Given the description of an element on the screen output the (x, y) to click on. 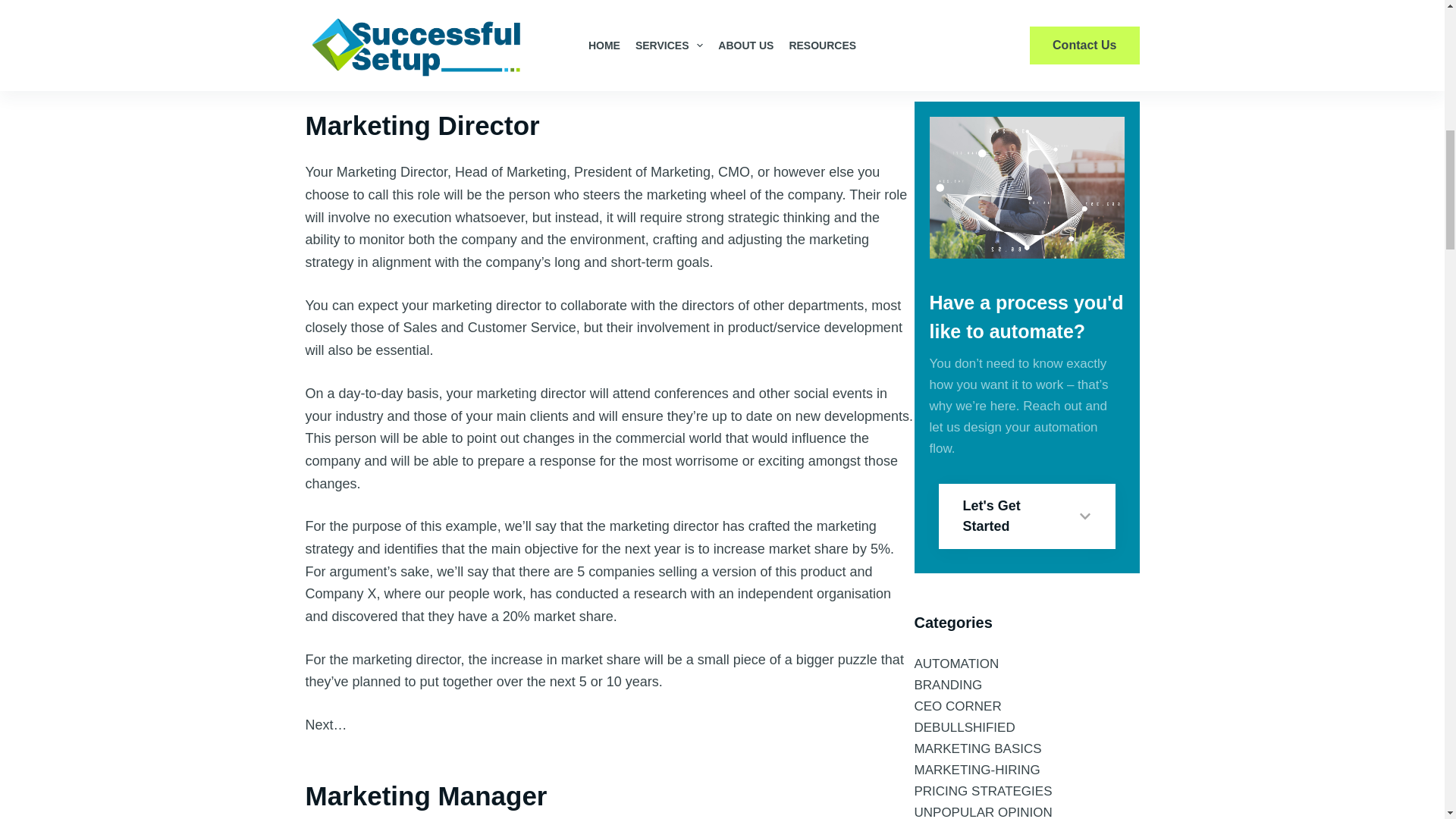
PRICING STRATEGIES (983, 7)
